Given the description of an element on the screen output the (x, y) to click on. 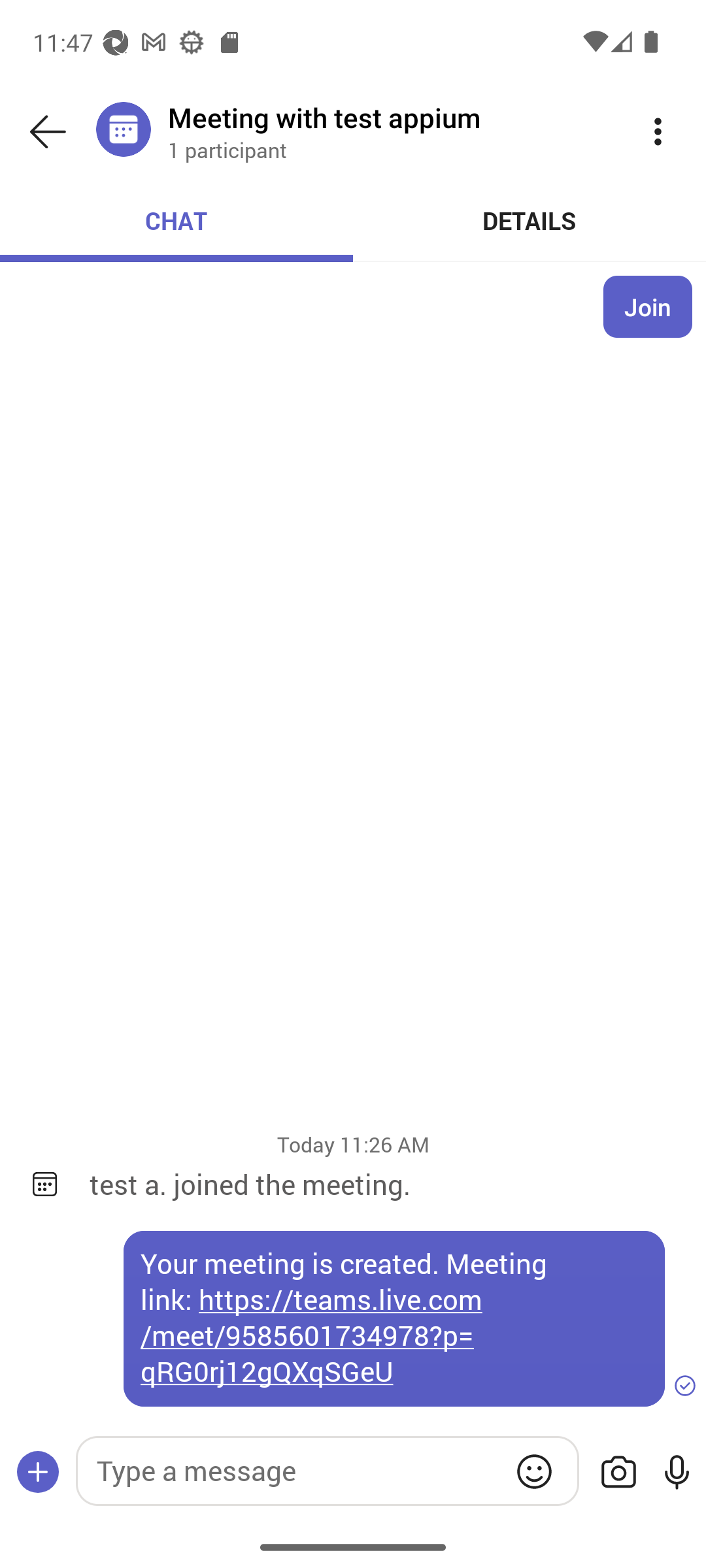
Back (48, 131)
More options (657, 131)
Details DETAILS (529, 220)
Join (647, 306)
test a. joined the meeting. (383, 1183)
Compose options, collapsed (37, 1471)
Button for loading camera action functionality (618, 1471)
Type a message (326, 1470)
GIFs and emojis picker (533, 1471)
